Given the description of an element on the screen output the (x, y) to click on. 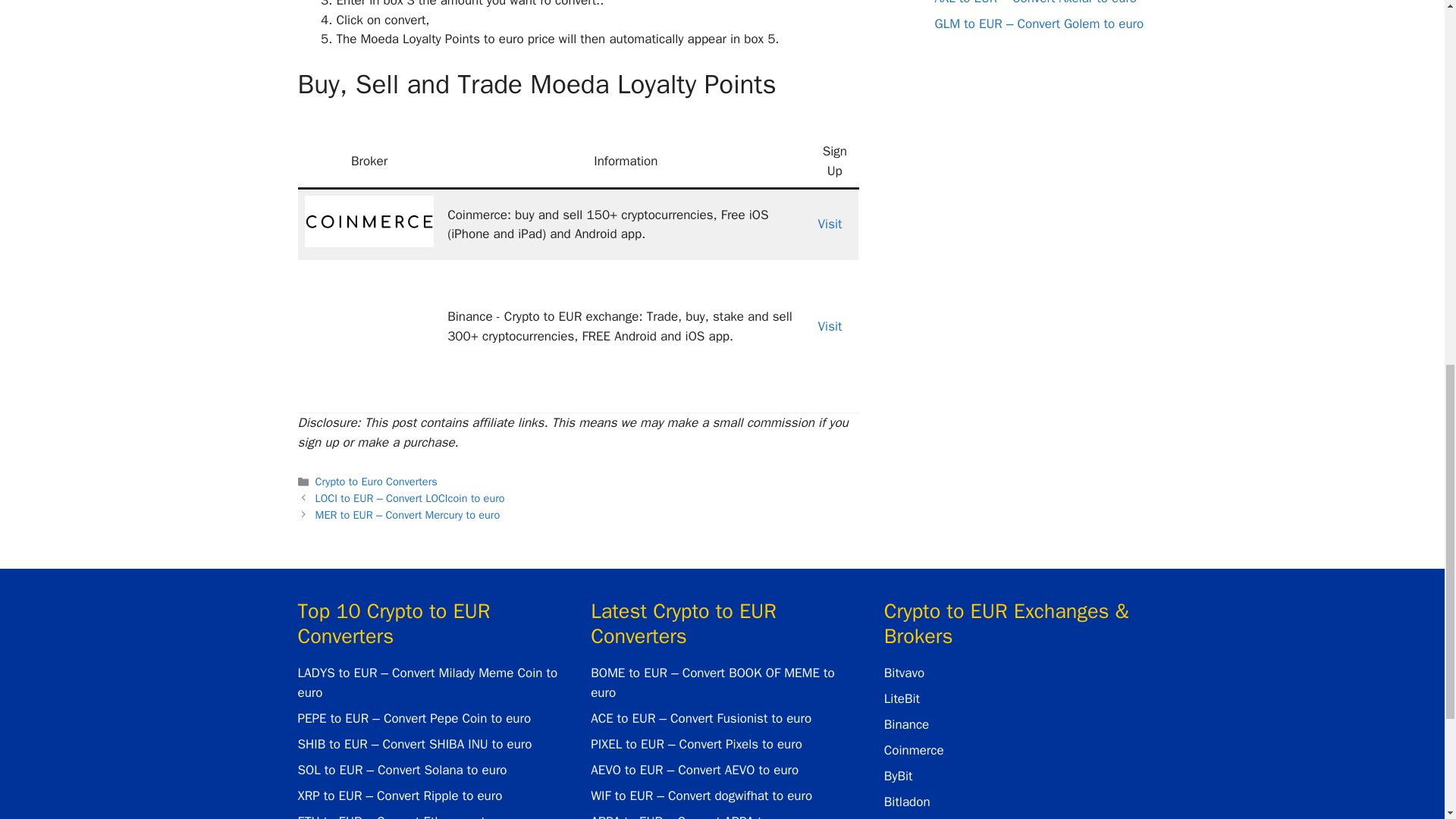
MDA to EUR - Convert Moeda Loyalty Points to euro (368, 221)
Visit (830, 223)
Visit (830, 326)
MDA to EUR - Convert Moeda Loyalty Points to euro (368, 323)
Crypto to Euro Converters (376, 481)
